Given the description of an element on the screen output the (x, y) to click on. 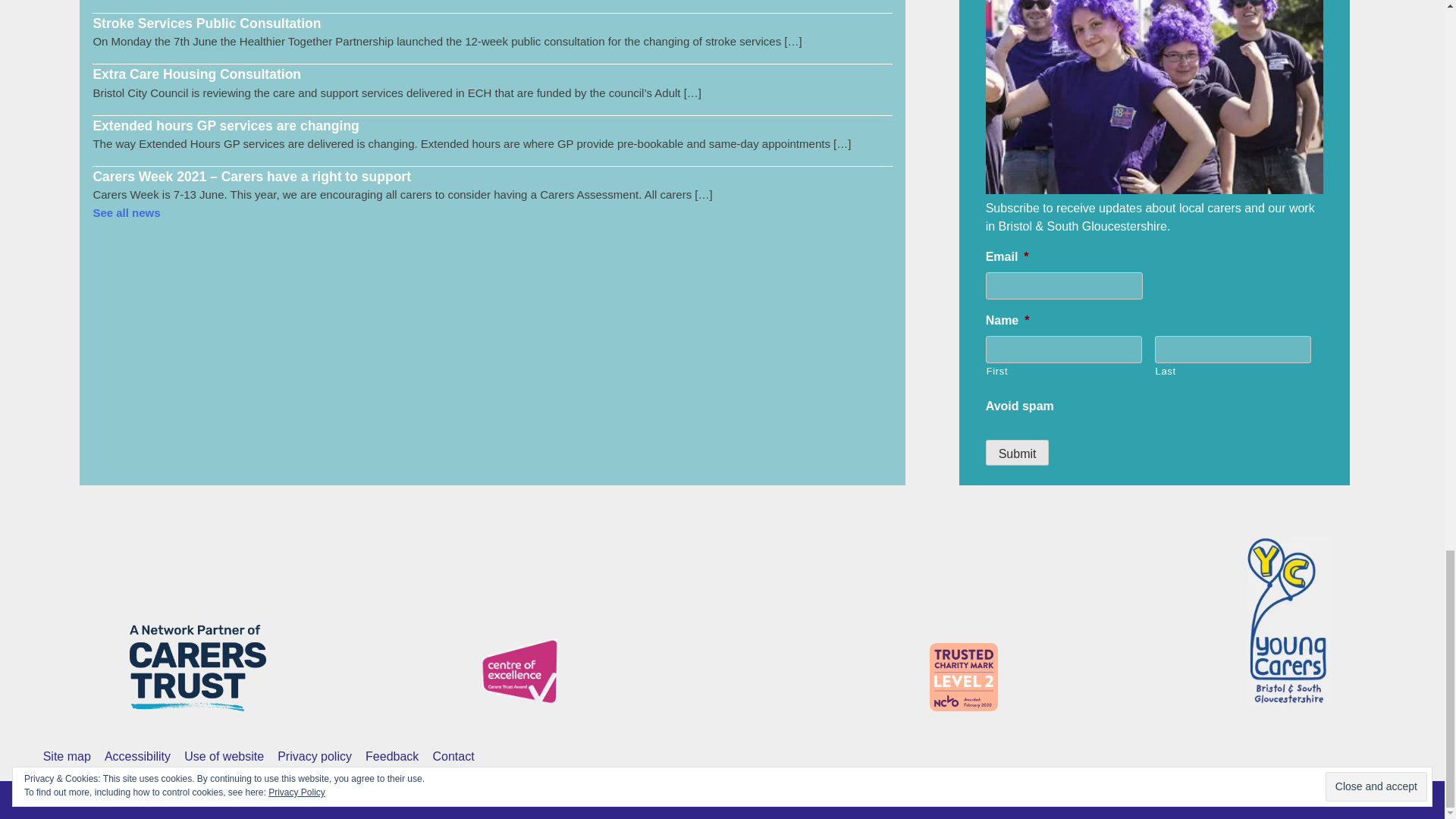
Submit (1017, 452)
